Given the description of an element on the screen output the (x, y) to click on. 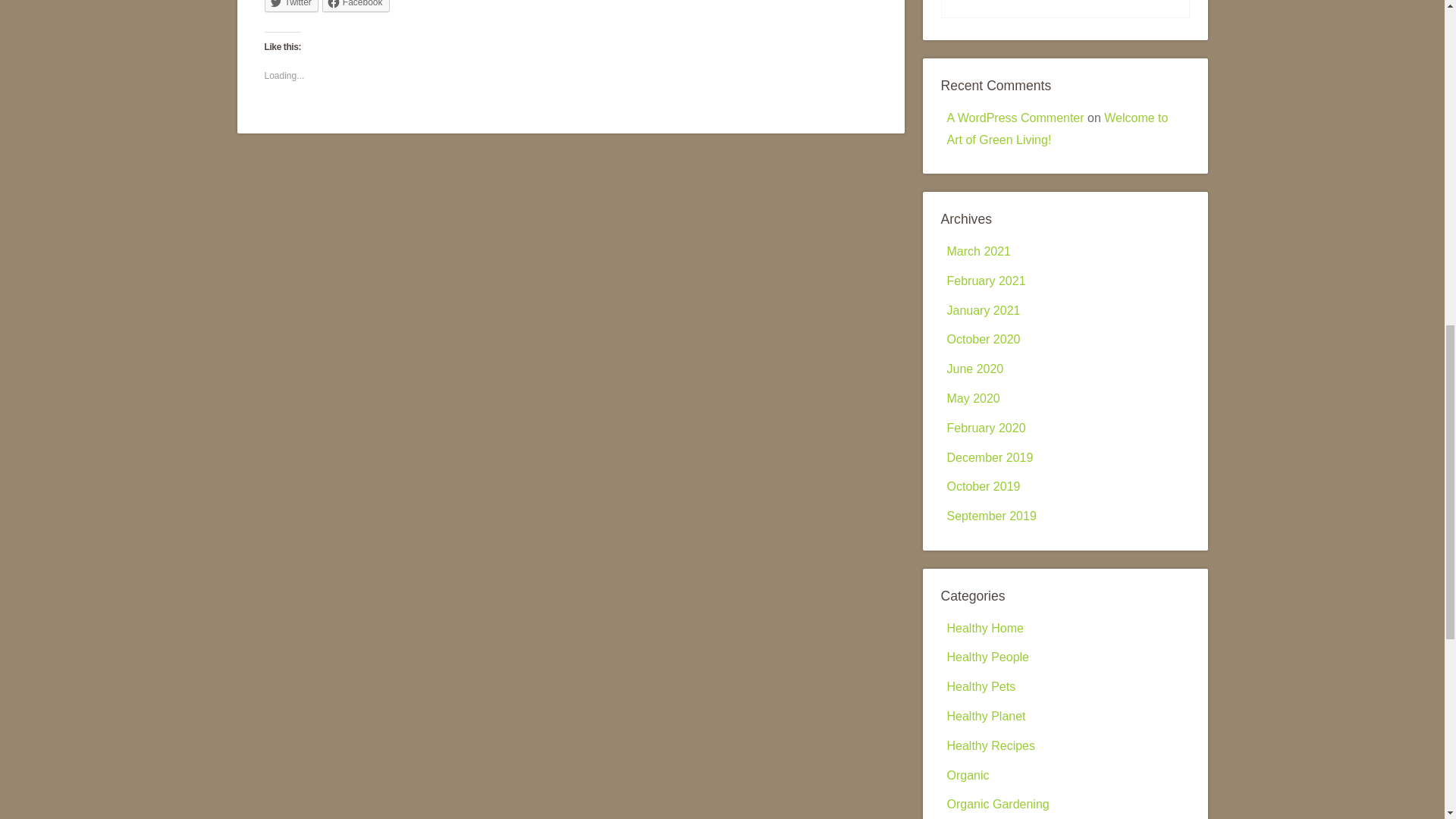
A WordPress Commenter (1014, 117)
Healthy Recipes (990, 745)
June 2020 (974, 368)
Twitter (290, 6)
Welcome to Art of Green Living! (1056, 128)
Click to share on Facebook (355, 6)
September 2019 (990, 515)
Facebook (355, 6)
February 2020 (985, 427)
March 2021 (978, 250)
Organic (967, 775)
Healthy Planet (985, 716)
December 2019 (989, 457)
Click to share on Twitter (290, 6)
Healthy Home (984, 627)
